Given the description of an element on the screen output the (x, y) to click on. 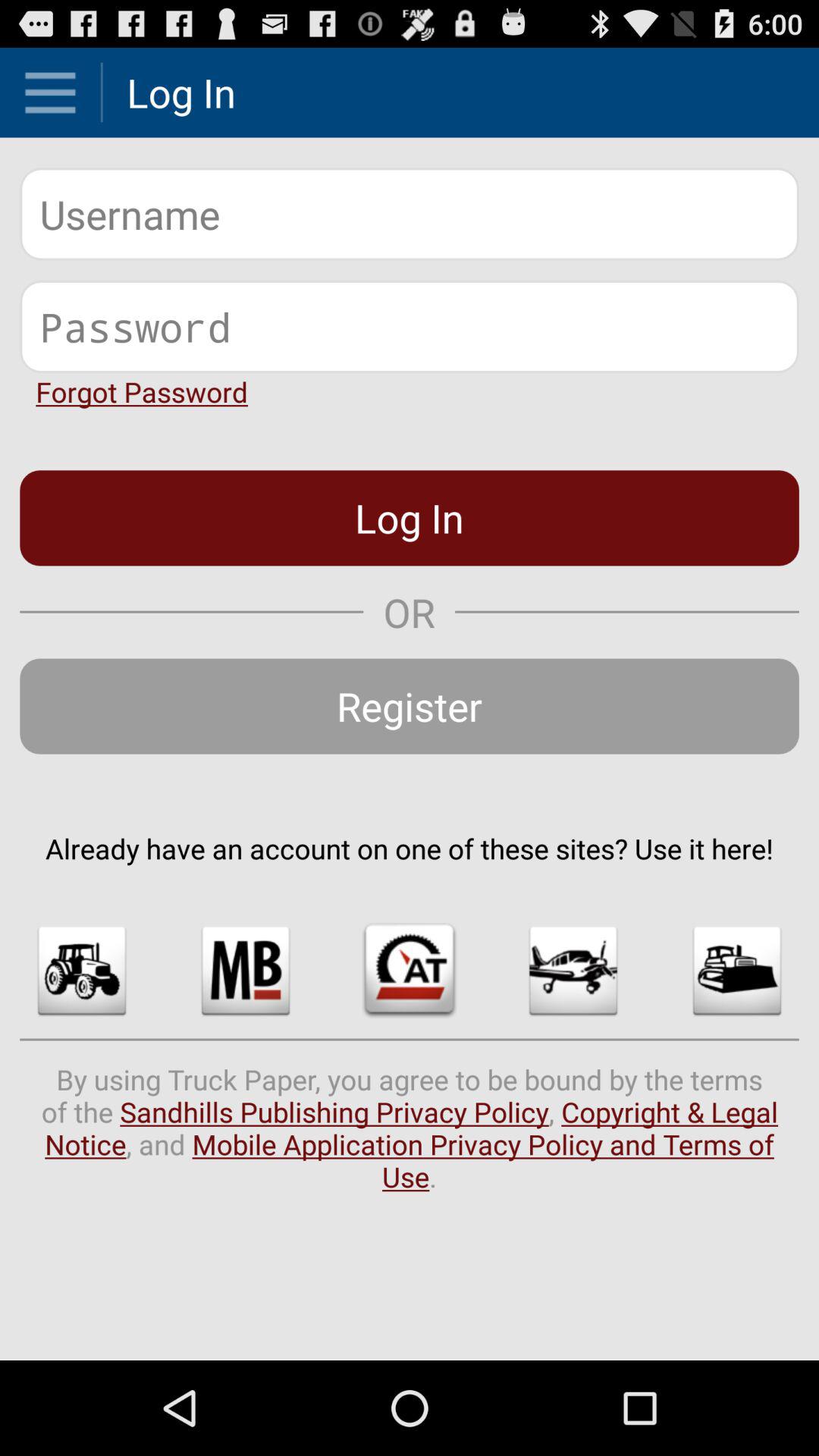
press the icon below the already have an app (737, 970)
